Given the description of an element on the screen output the (x, y) to click on. 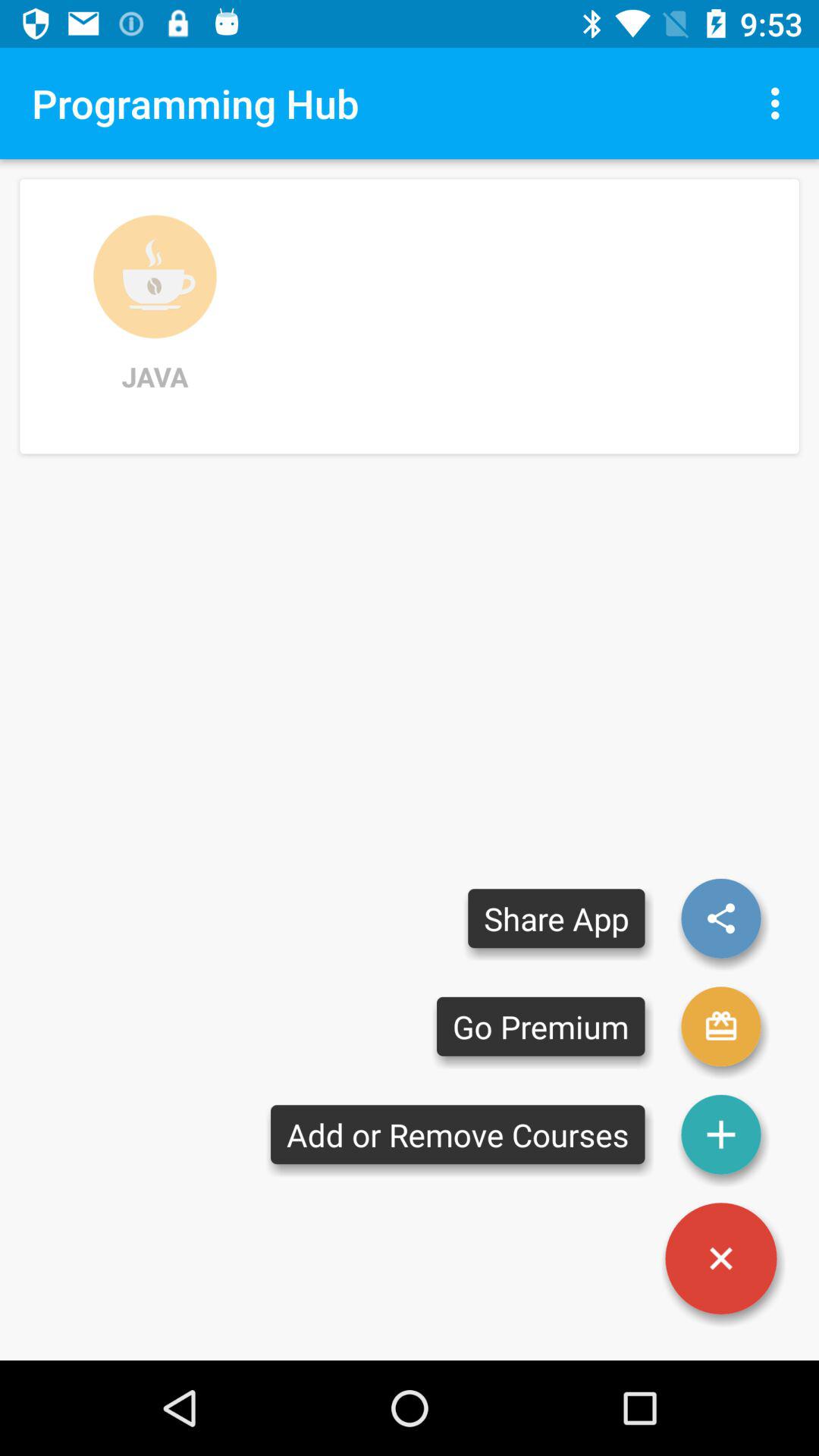
select the add or remove icon (457, 1134)
